Given the description of an element on the screen output the (x, y) to click on. 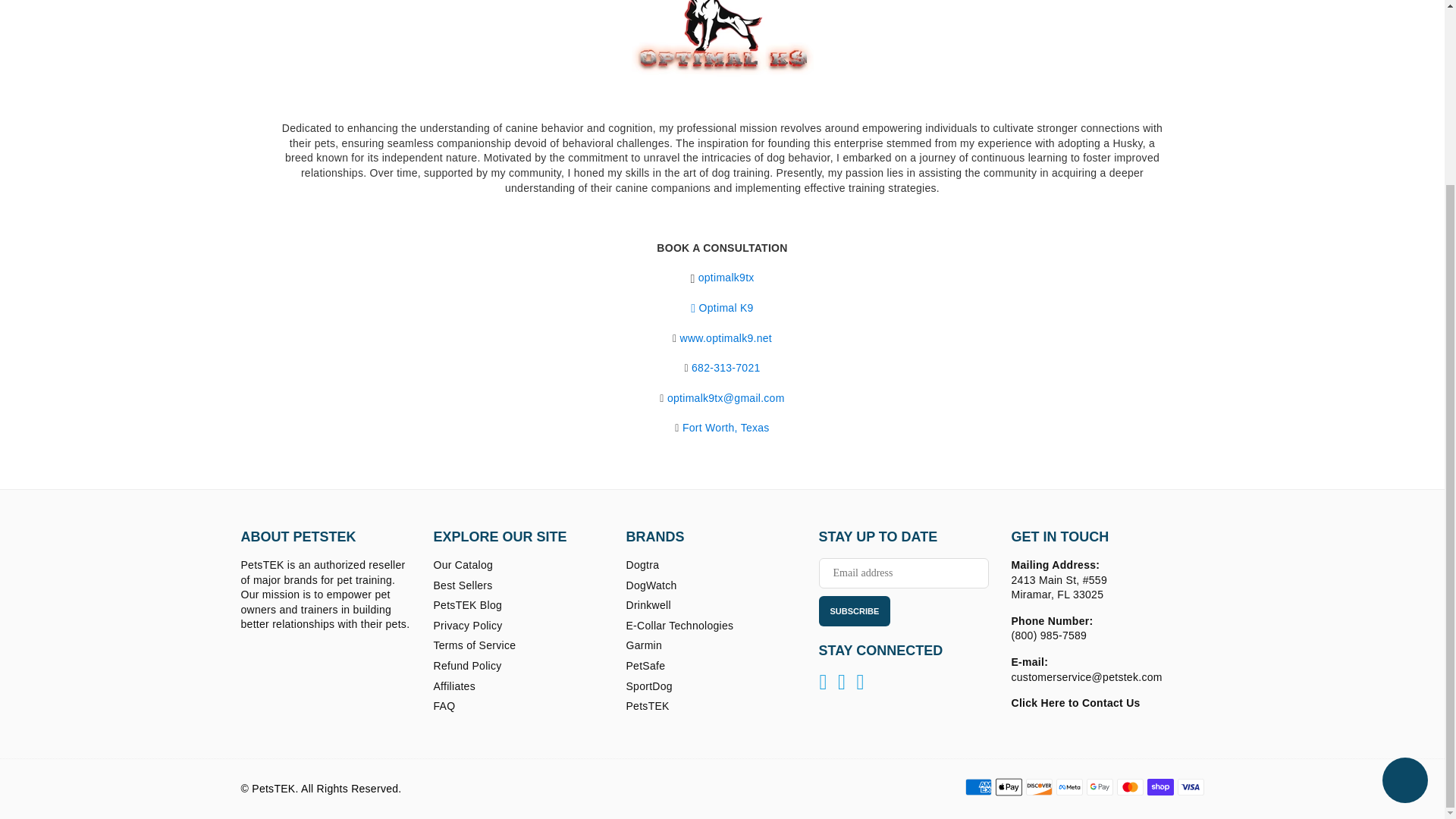
Optimal K9 Website (725, 338)
Mastercard (1129, 787)
Shop Pay (1160, 787)
Apple Pay (1008, 787)
Visa (1190, 787)
PetsTEK on Instagram (860, 681)
Fort Worth, TX Map (726, 427)
Discover (1038, 787)
American Express (977, 787)
Meta Pay (1068, 787)
Shopify online store chat (1404, 553)
Optimal K9 Instagram (726, 277)
Google Pay (1099, 787)
PetsTEK on Pinterest (841, 681)
Optimal K9 Email (725, 398)
